Given the description of an element on the screen output the (x, y) to click on. 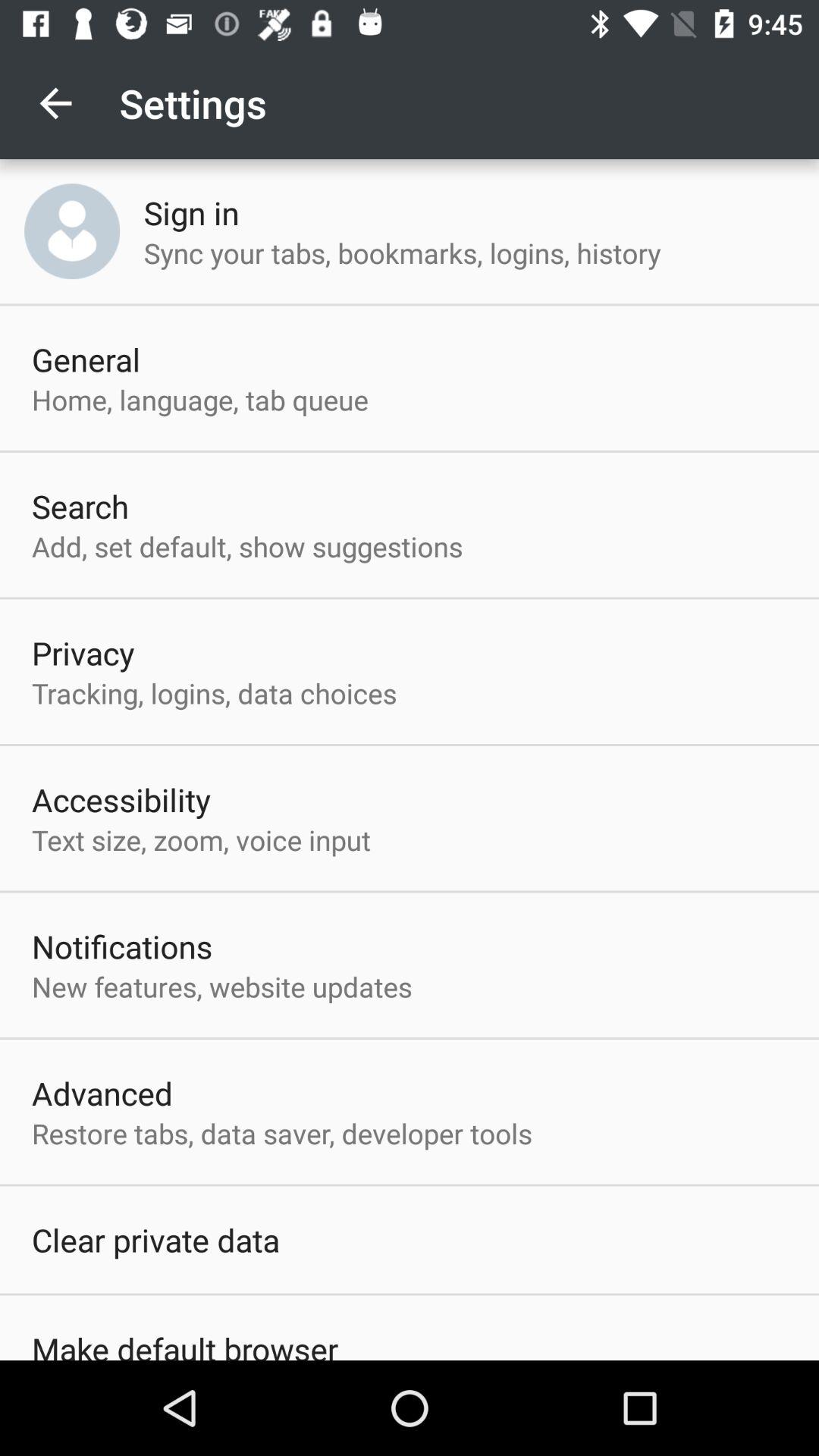
turn off item below clear private data (184, 1343)
